Given the description of an element on the screen output the (x, y) to click on. 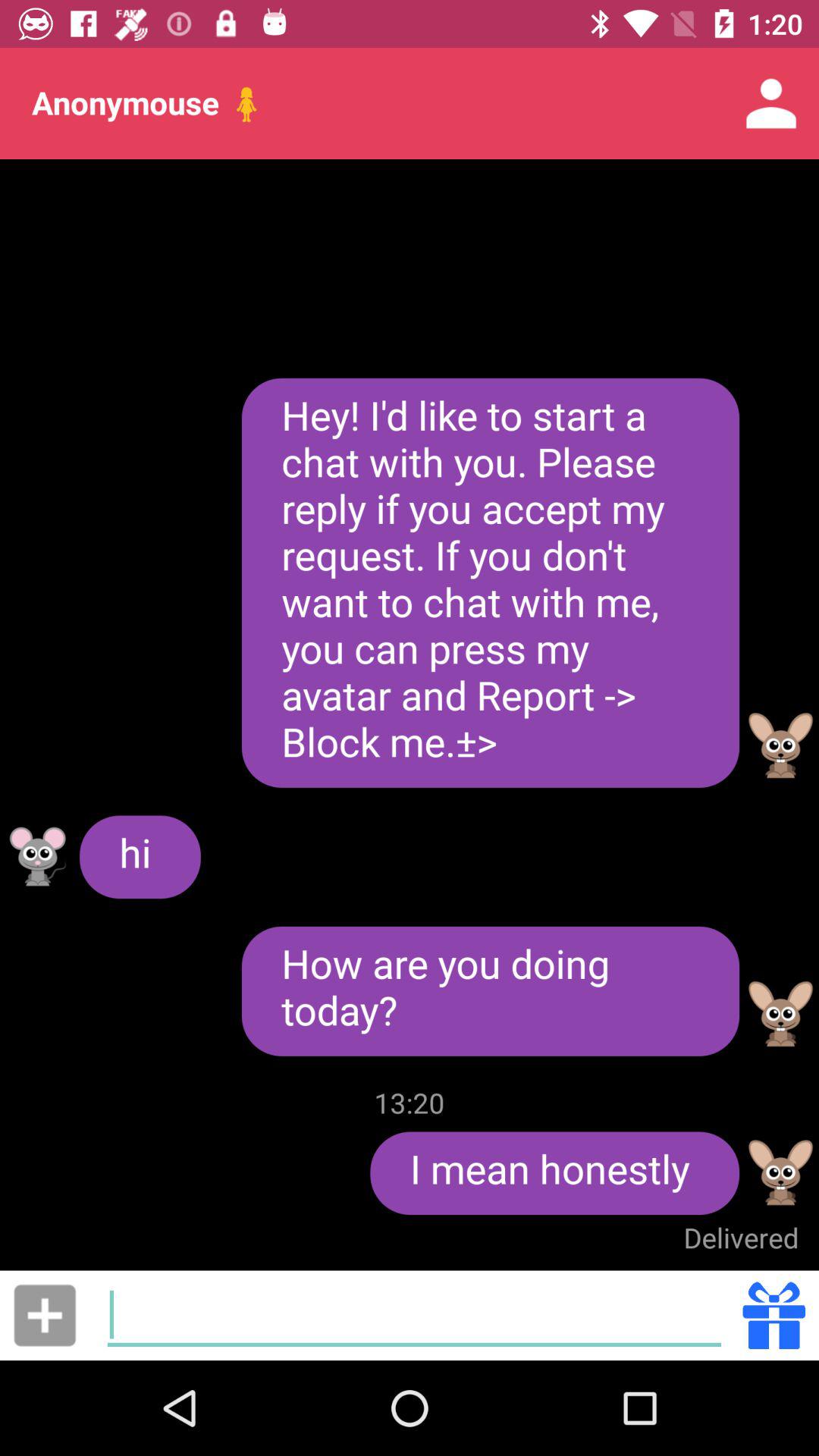
flip until delivered (741, 1237)
